Given the description of an element on the screen output the (x, y) to click on. 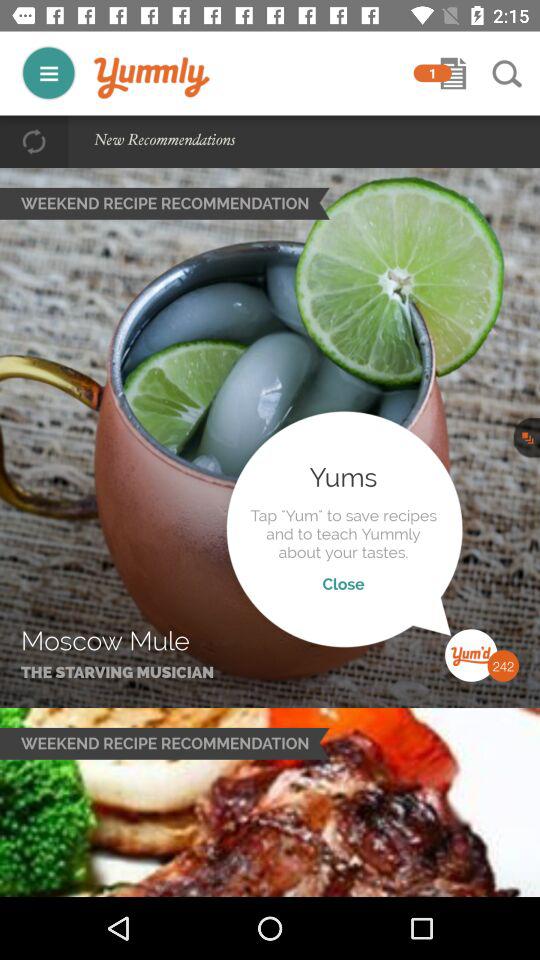
yummly recipes (48, 72)
